Given the description of an element on the screen output the (x, y) to click on. 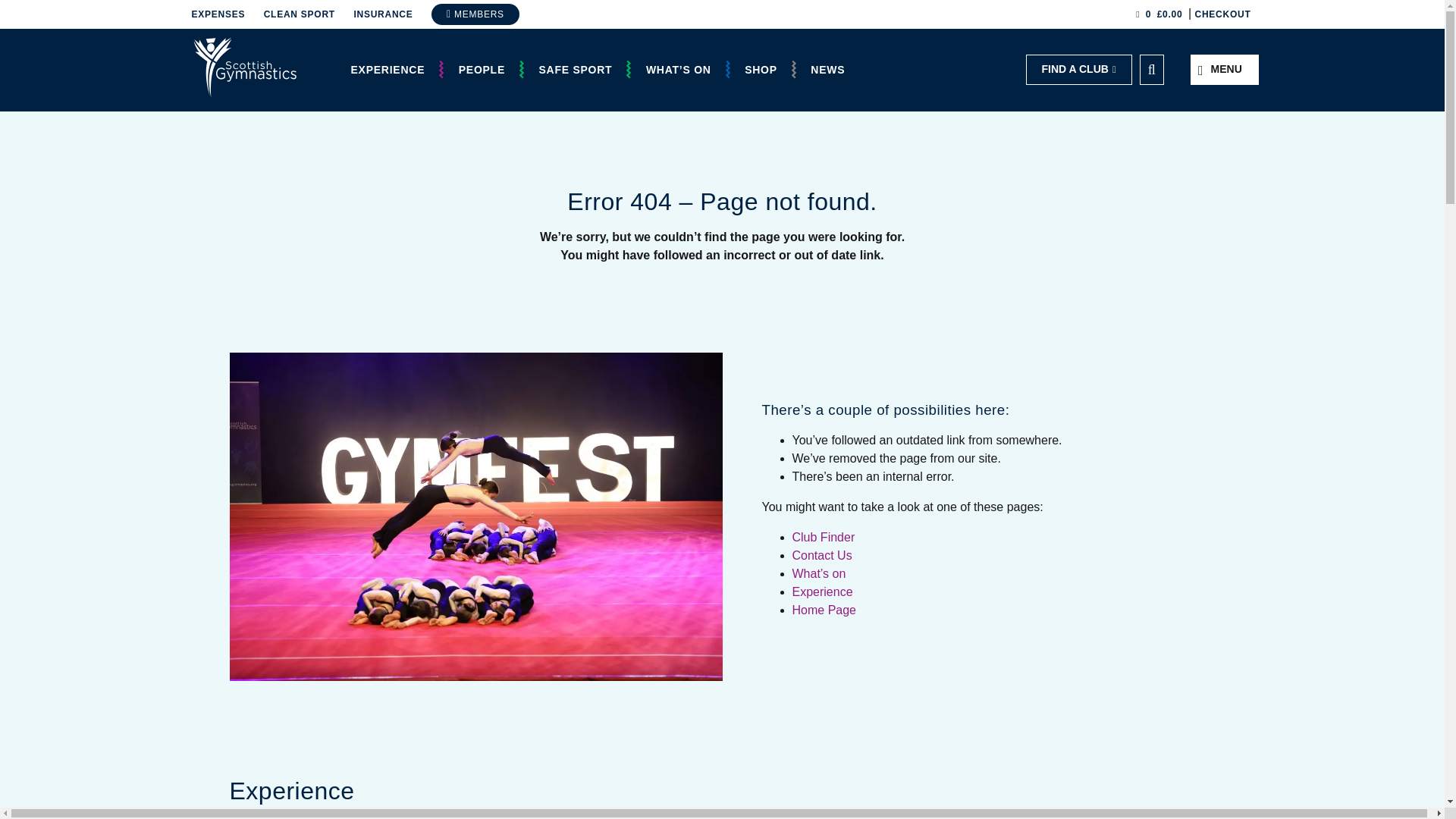
CHECKOUT (1224, 14)
EXPENSES (225, 14)
SHOP (760, 69)
MEMBERS (474, 14)
NEWS (827, 69)
Scottish Gymnastics (243, 67)
FIND A CLUB (1078, 69)
CLEAN SPORT (306, 14)
EXPERIENCE (386, 69)
SAFE SPORT (574, 69)
